Given the description of an element on the screen output the (x, y) to click on. 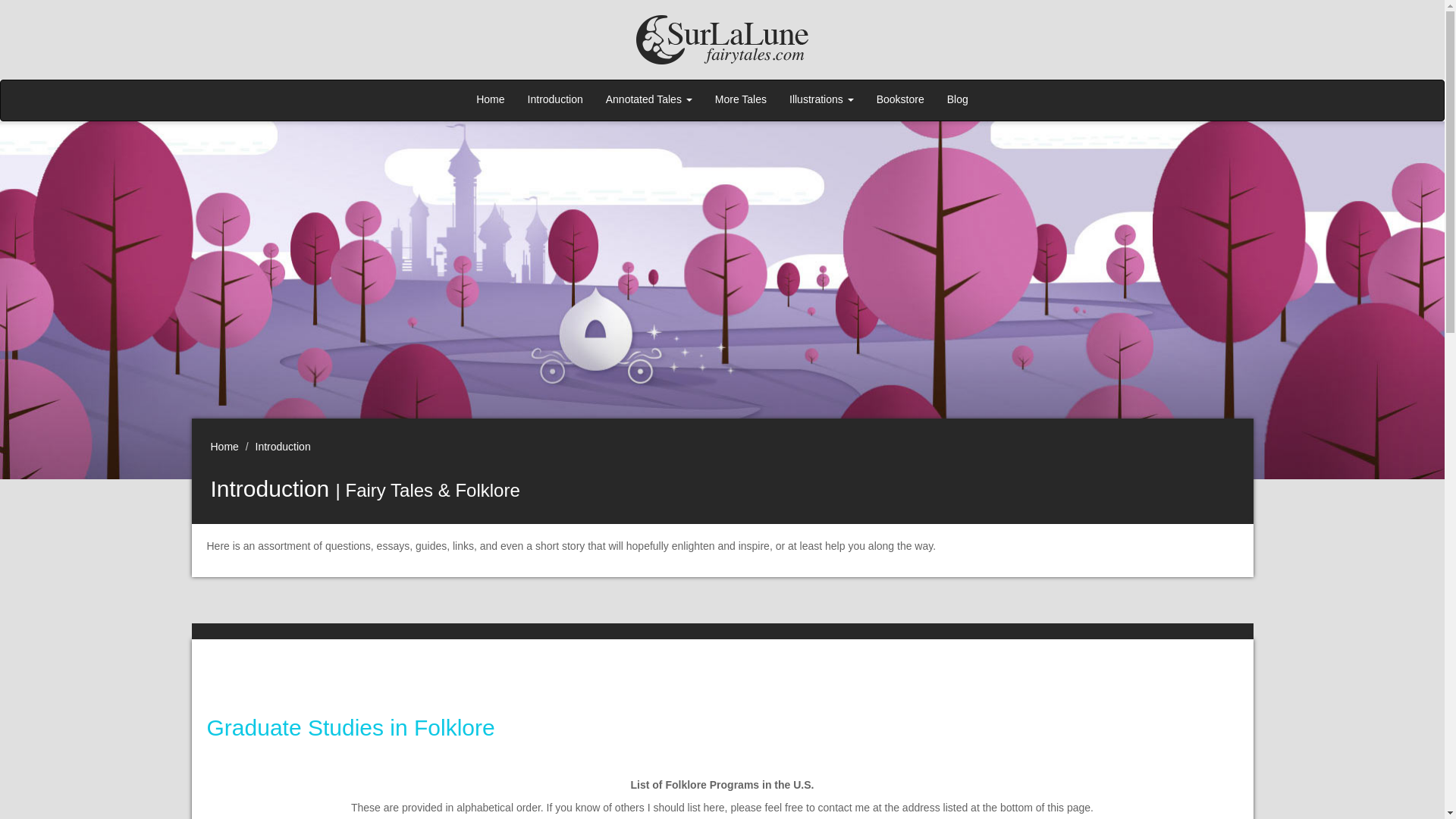
Bookstore (900, 100)
More Tales (740, 100)
Home (224, 446)
Home (489, 100)
Introduction (555, 100)
Blog (957, 100)
Introduction (283, 446)
Illustrations (820, 100)
Annotated Tales (648, 100)
